Given the description of an element on the screen output the (x, y) to click on. 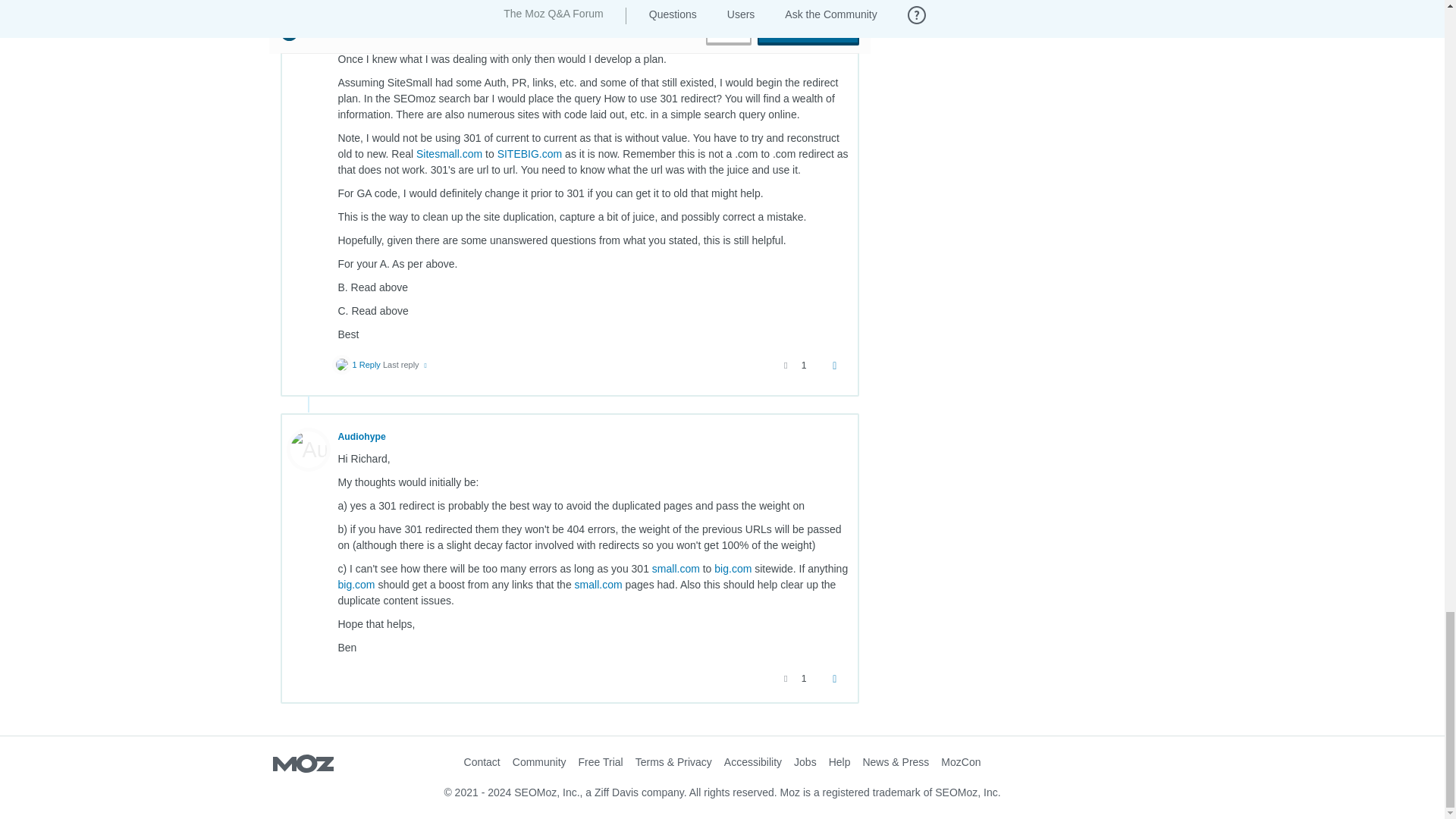
Moz logo (303, 764)
